Given the description of an element on the screen output the (x, y) to click on. 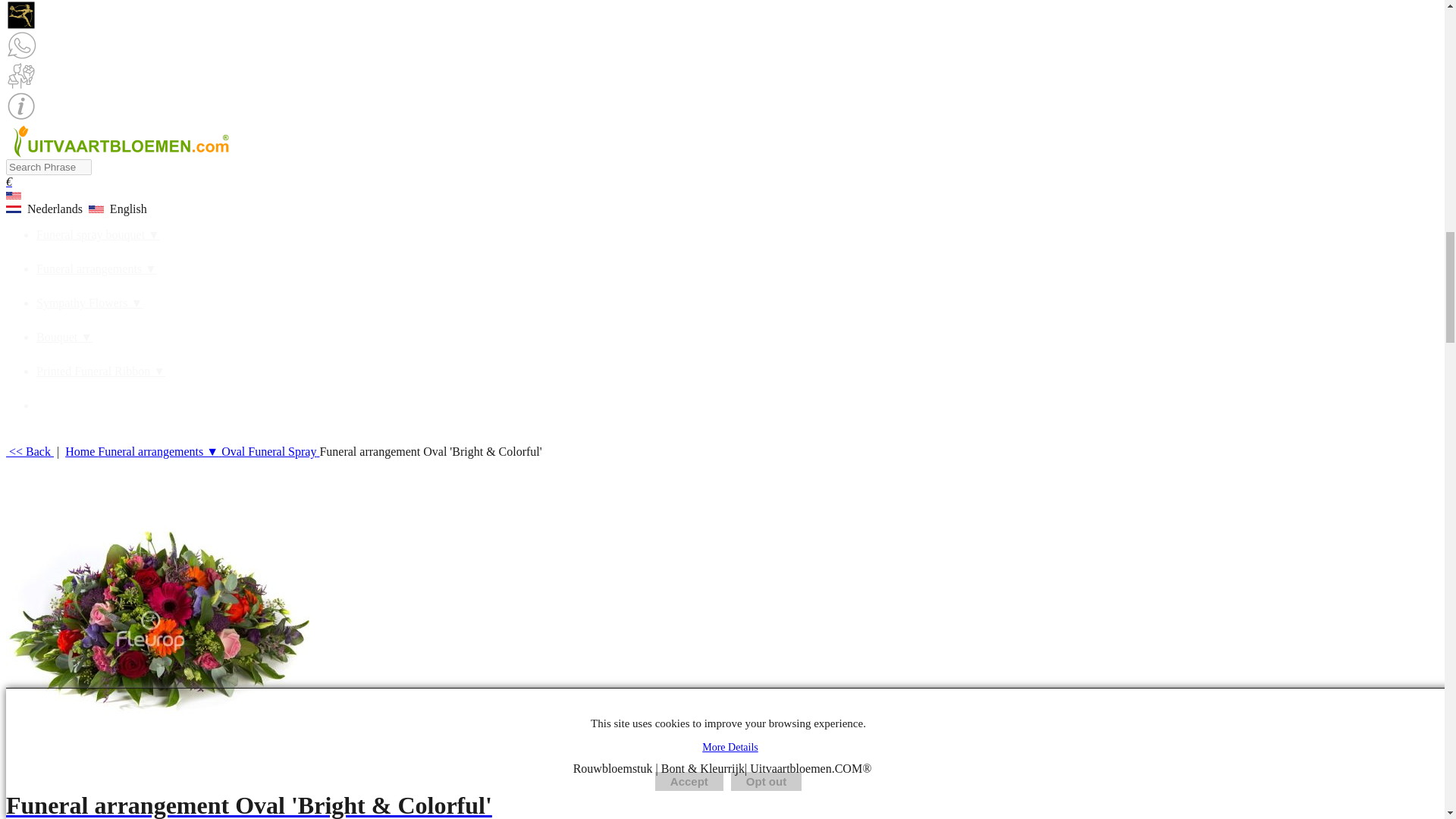
 English  (118, 208)
Funeral Flowers - LOGO (118, 139)
Home (81, 451)
English (13, 195)
Oval Funeral Spray (269, 451)
 Nederlands  (45, 208)
